Given the description of an element on the screen output the (x, y) to click on. 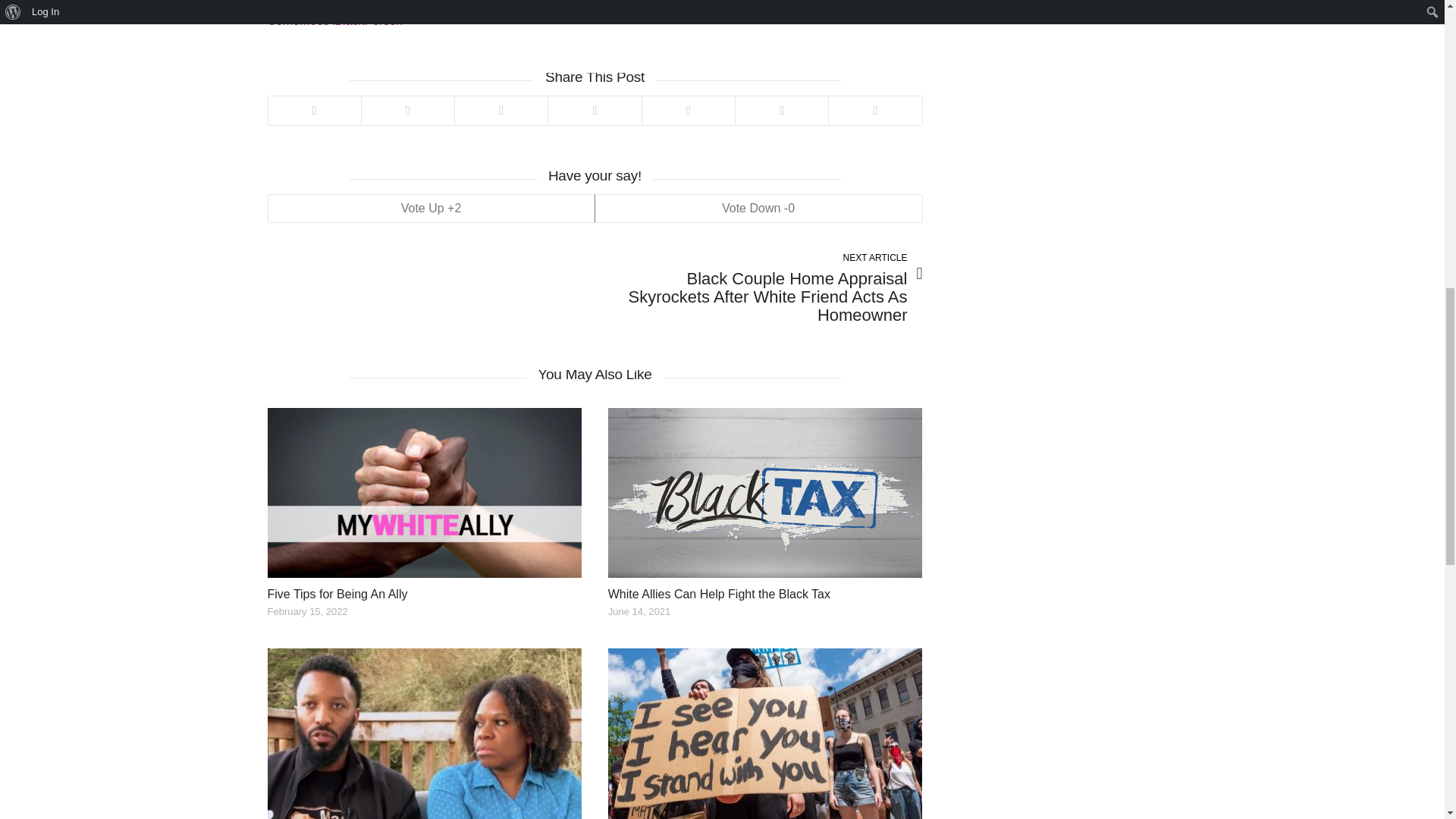
Facebook (407, 110)
Email (874, 110)
Reddit (688, 110)
White Allies Can Help Fight the Black Tax (765, 492)
LinkedIn (593, 110)
White Allies Can Help Fight the Black Tax (718, 594)
Pinterest (500, 110)
Five Tips for Being An Ally (336, 594)
White Allies Can Help Fight the Black Tax (718, 594)
Five Tips for Being An Ally (423, 492)
ComeMeetABlackPerson (334, 20)
Five Tips for Being An Ally (336, 594)
Twitter (314, 110)
